Given the description of an element on the screen output the (x, y) to click on. 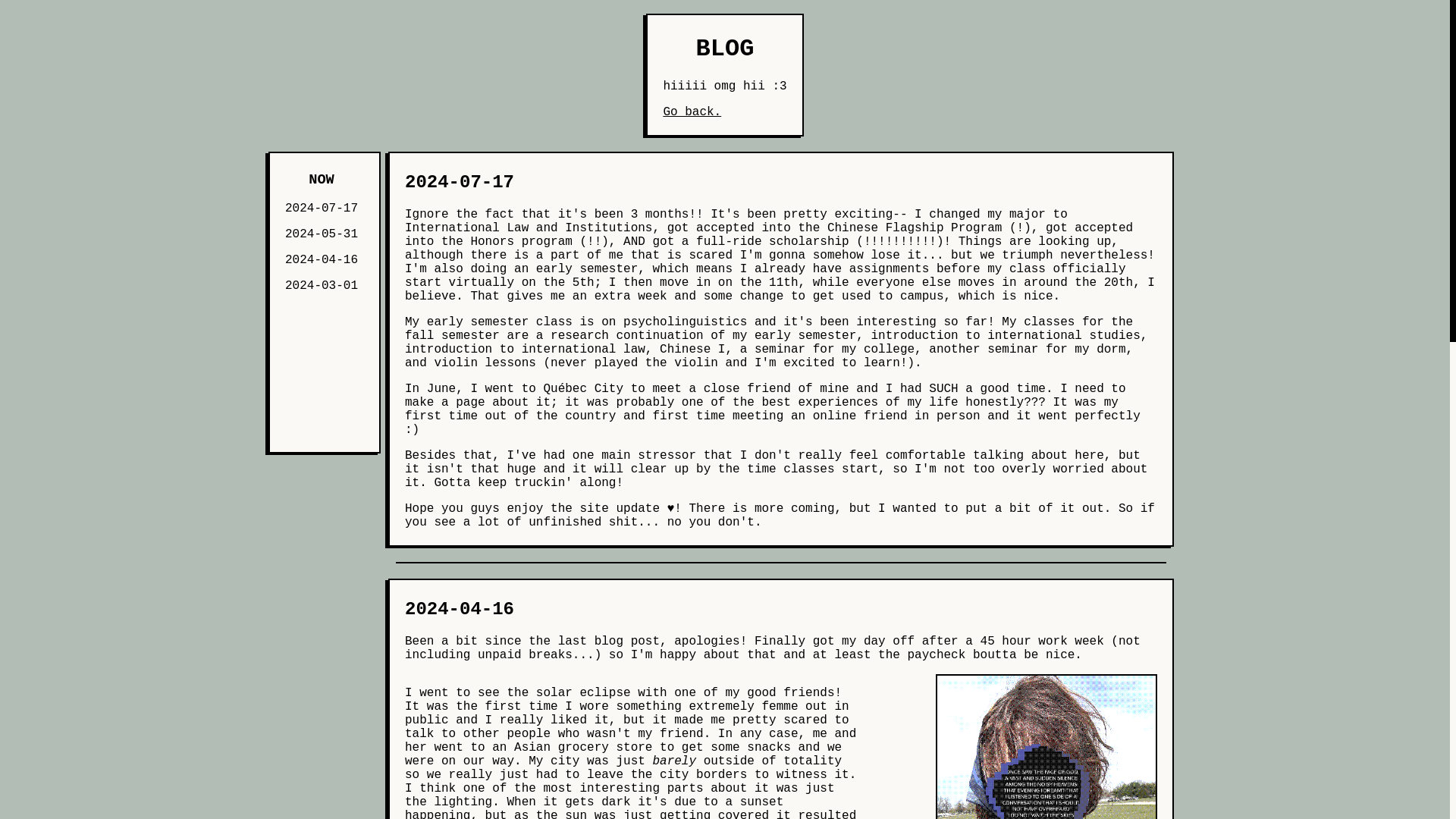
Go back. (691, 111)
